Given the description of an element on the screen output the (x, y) to click on. 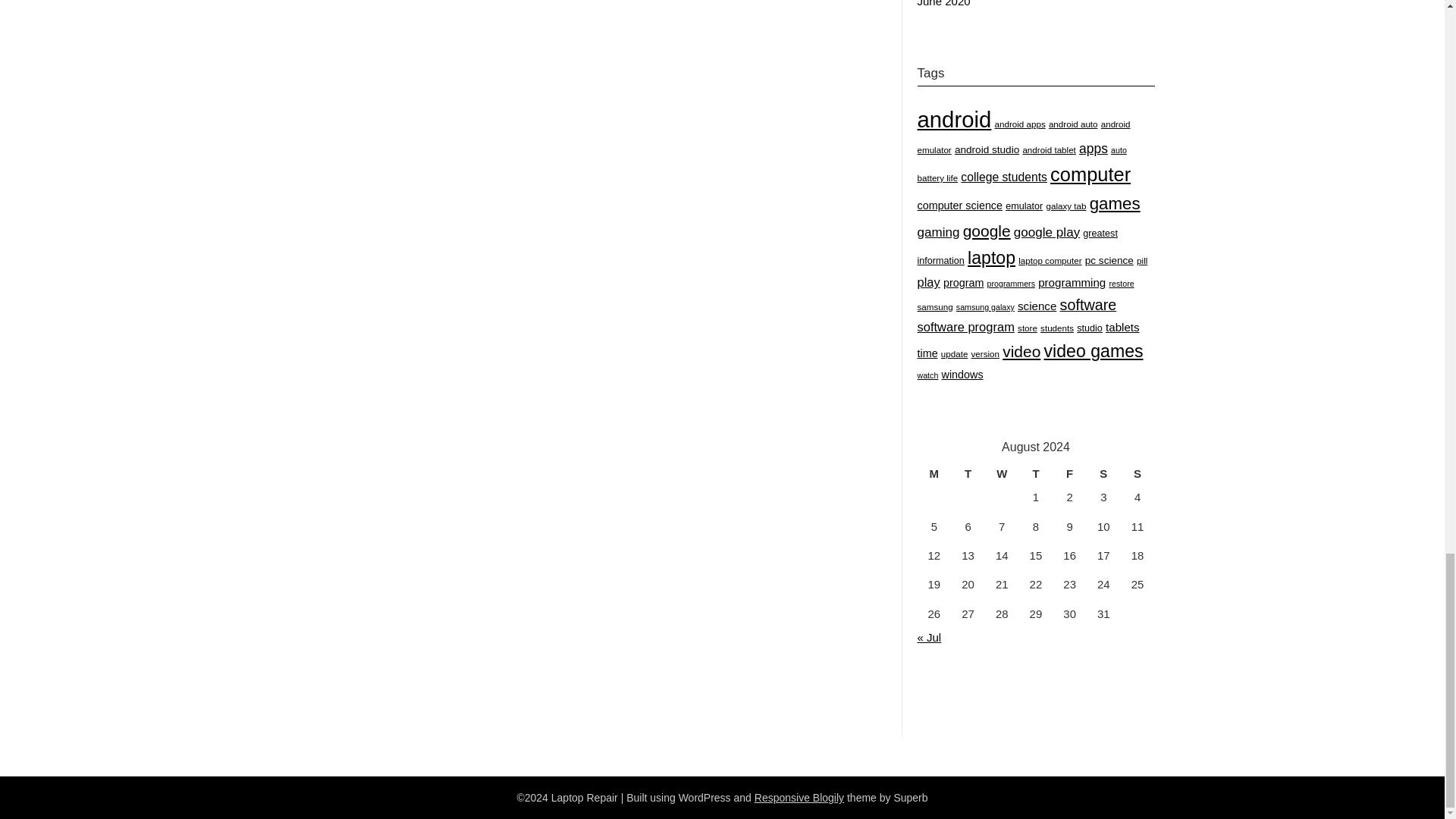
Sunday (1137, 474)
Saturday (1103, 474)
Thursday (1035, 474)
Wednesday (1002, 474)
Friday (1069, 474)
Monday (934, 474)
Tuesday (967, 474)
